Given the description of an element on the screen output the (x, y) to click on. 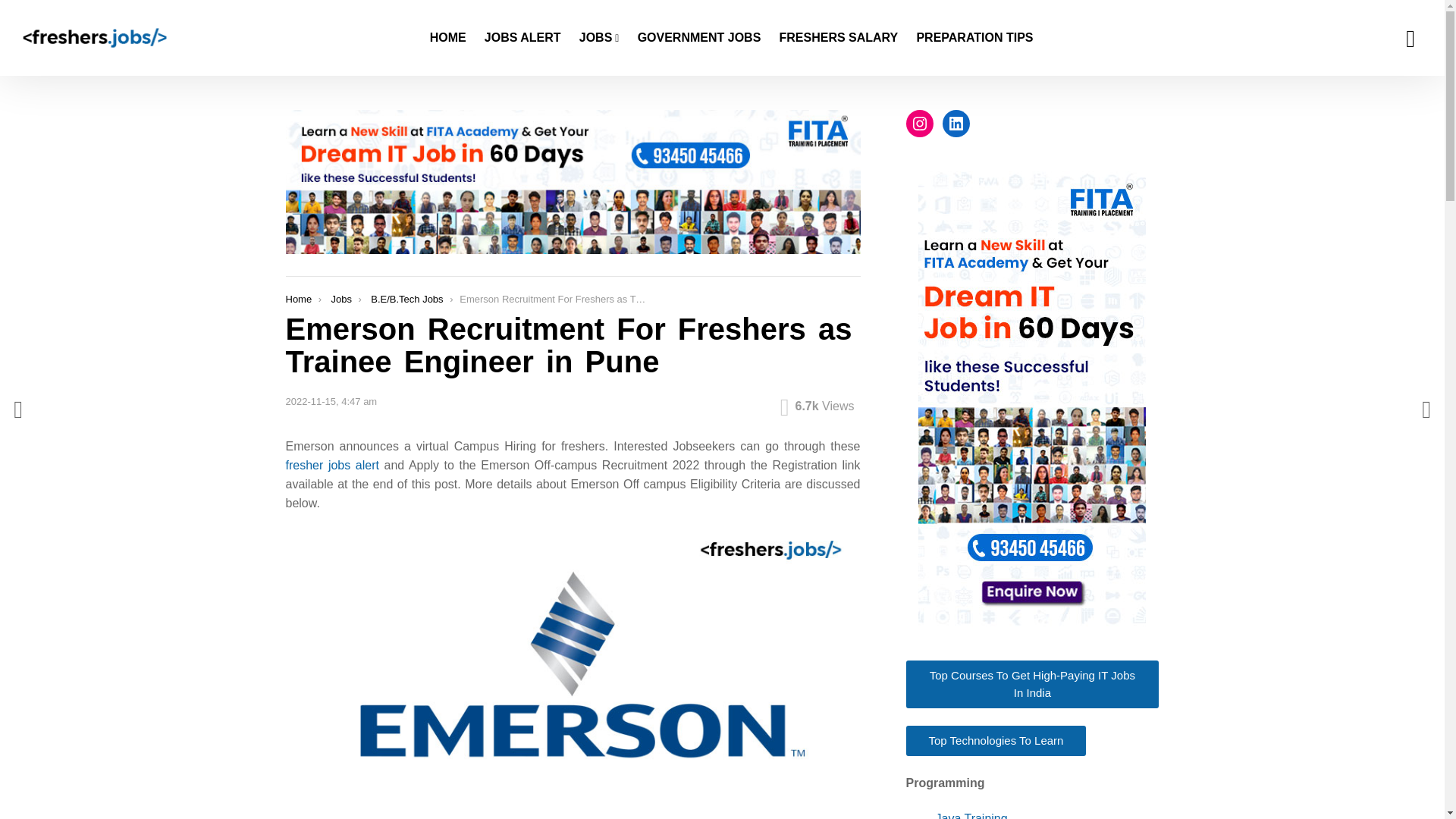
HOME (448, 37)
Home (298, 298)
Jobs (340, 298)
SEARCH (1410, 38)
PREPARATION TIPS (974, 37)
GOVERNMENT JOBS (699, 37)
JOBS ALERT (523, 37)
FRESHERS SALARY (838, 37)
fresher jobs alert (331, 464)
JOBS (599, 37)
